Given the description of an element on the screen output the (x, y) to click on. 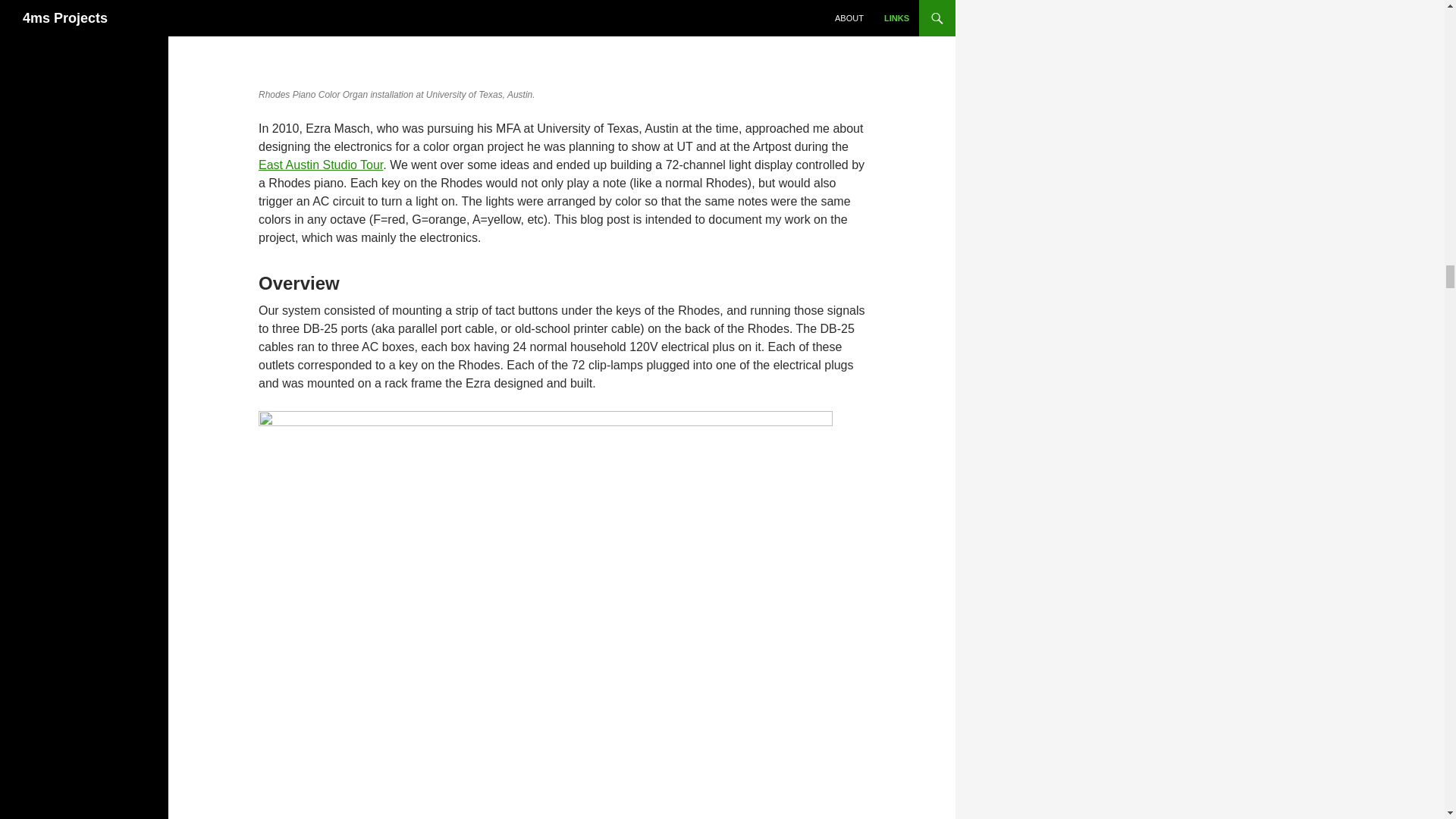
Rhodes Piano Overhead view (398, 40)
East Austin Studio Tour (320, 164)
